Given the description of an element on the screen output the (x, y) to click on. 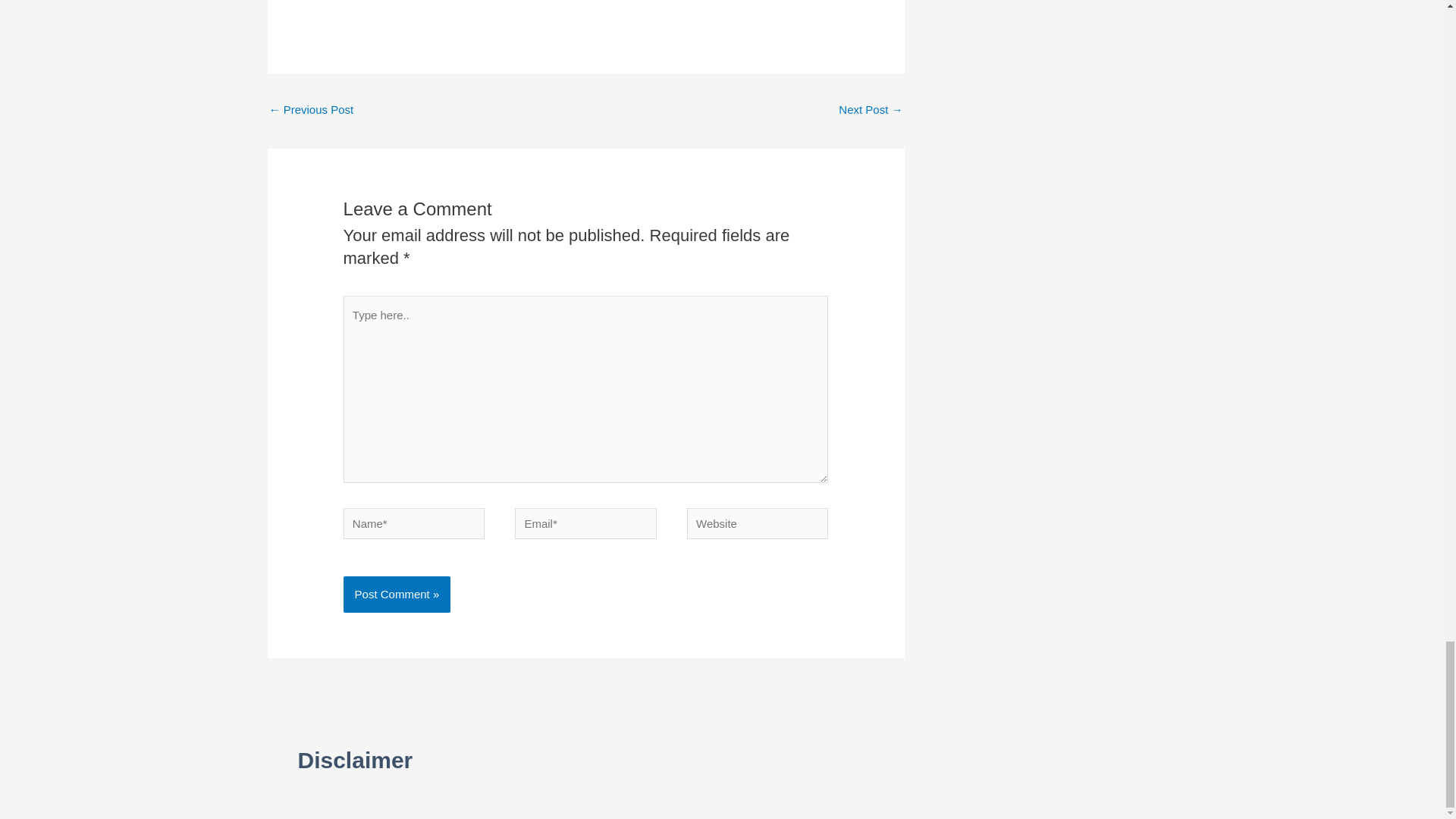
Why should we believe in God? (870, 110)
Disclaimer (354, 760)
Success Does Not Exist (310, 110)
